Given the description of an element on the screen output the (x, y) to click on. 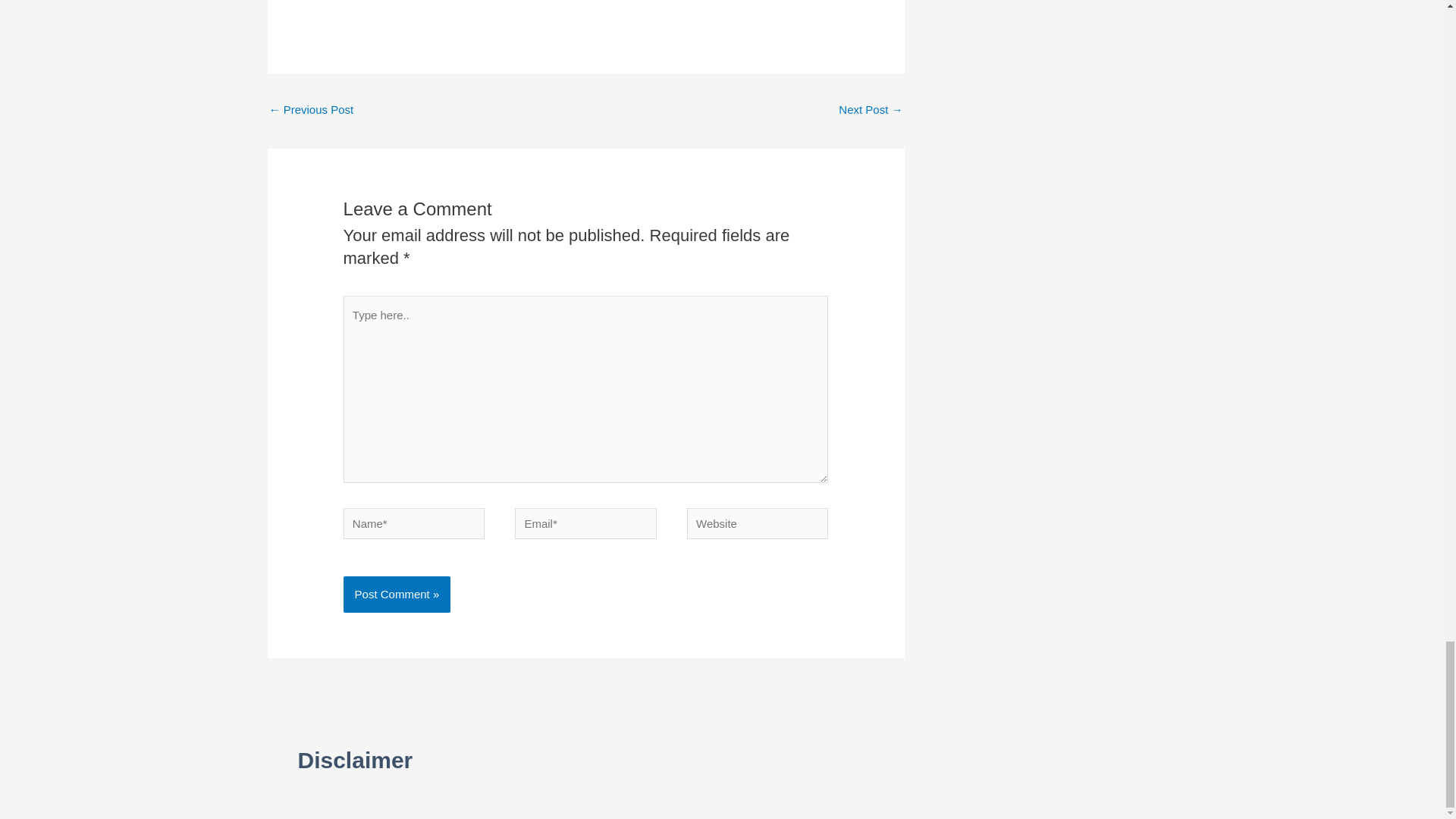
Why should we believe in God? (870, 110)
Disclaimer (354, 760)
Success Does Not Exist (310, 110)
